Given the description of an element on the screen output the (x, y) to click on. 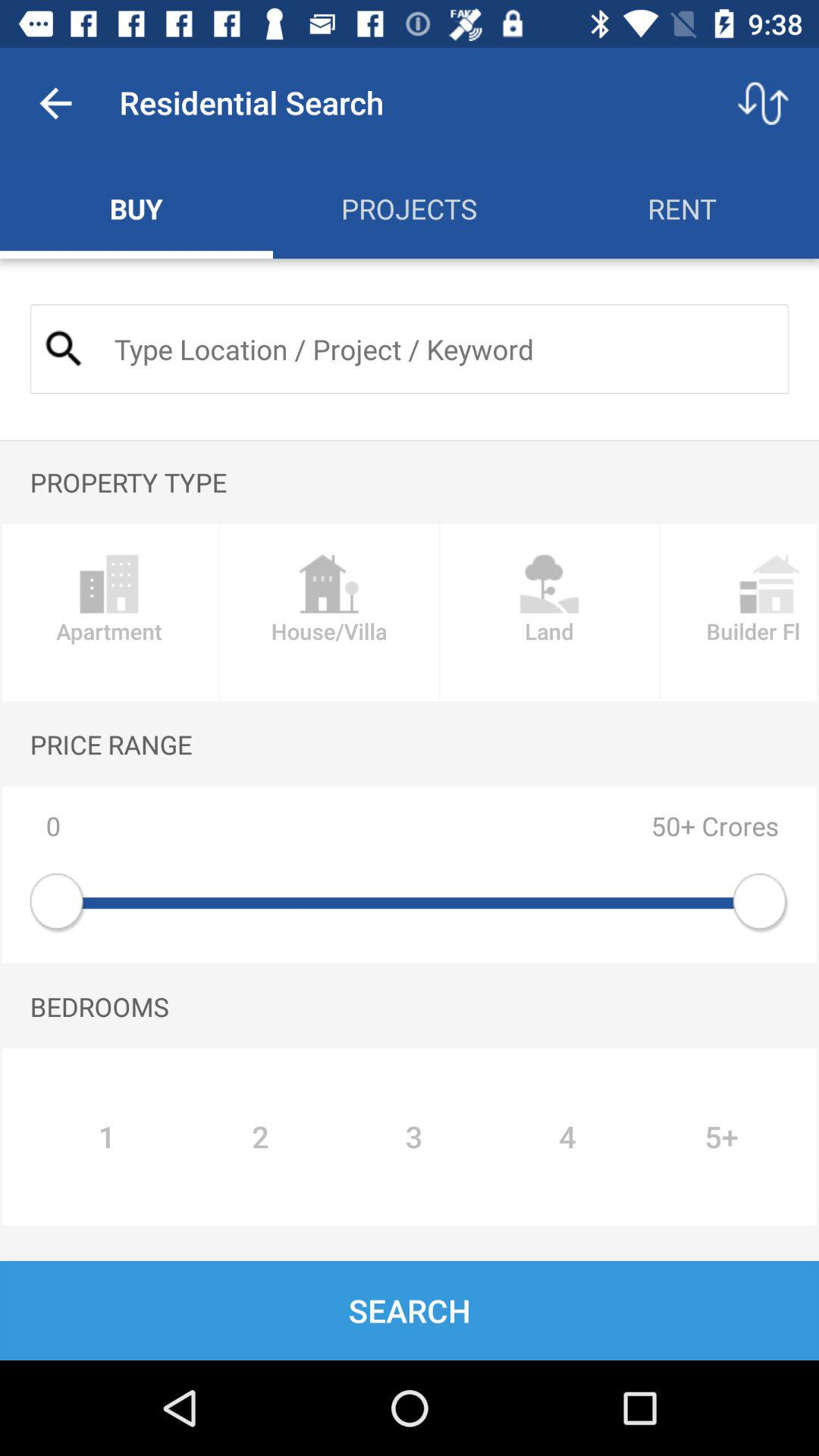
flip to the land item (549, 612)
